Given the description of an element on the screen output the (x, y) to click on. 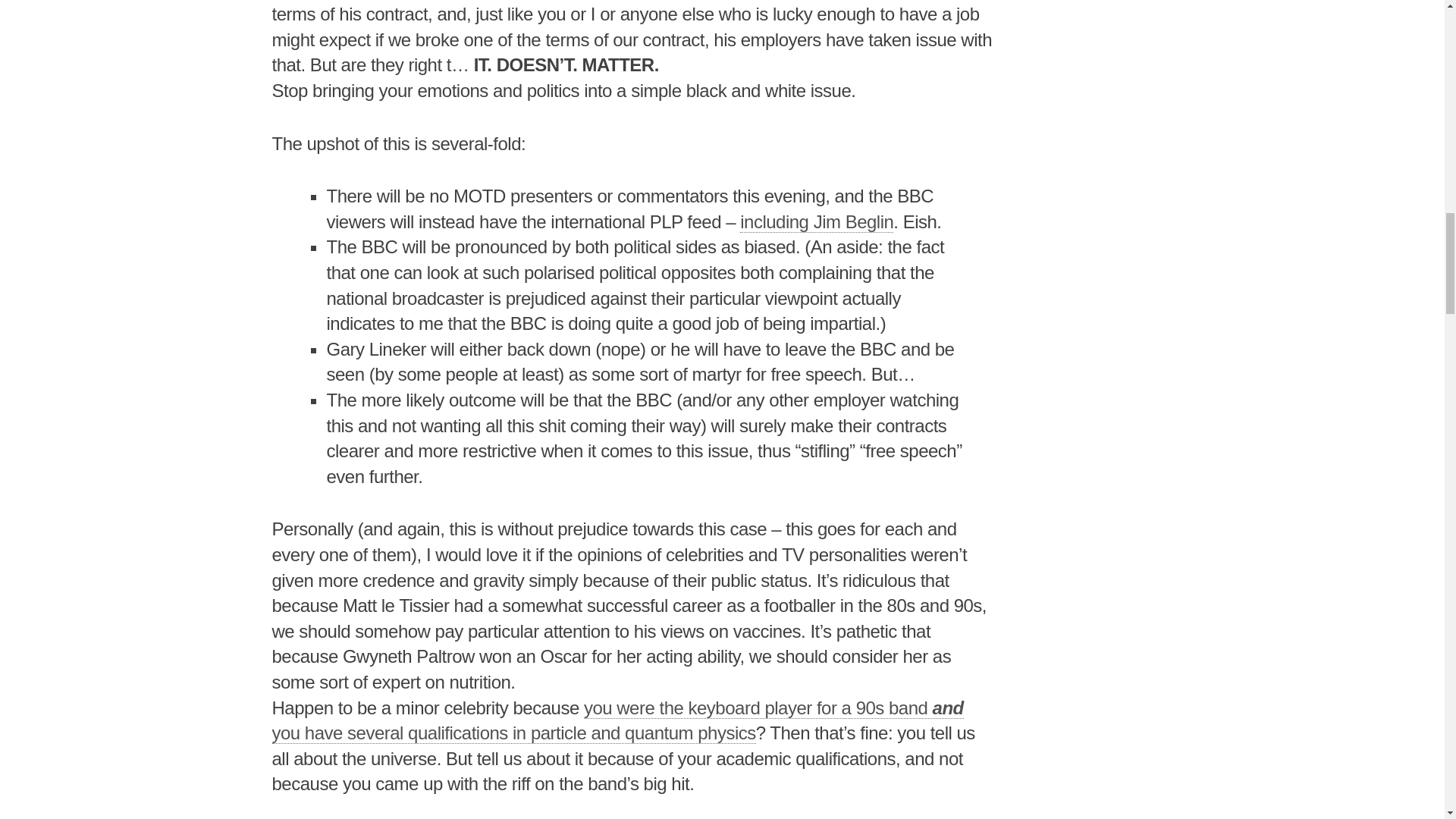
including Jim Beglin (816, 221)
